Given the description of an element on the screen output the (x, y) to click on. 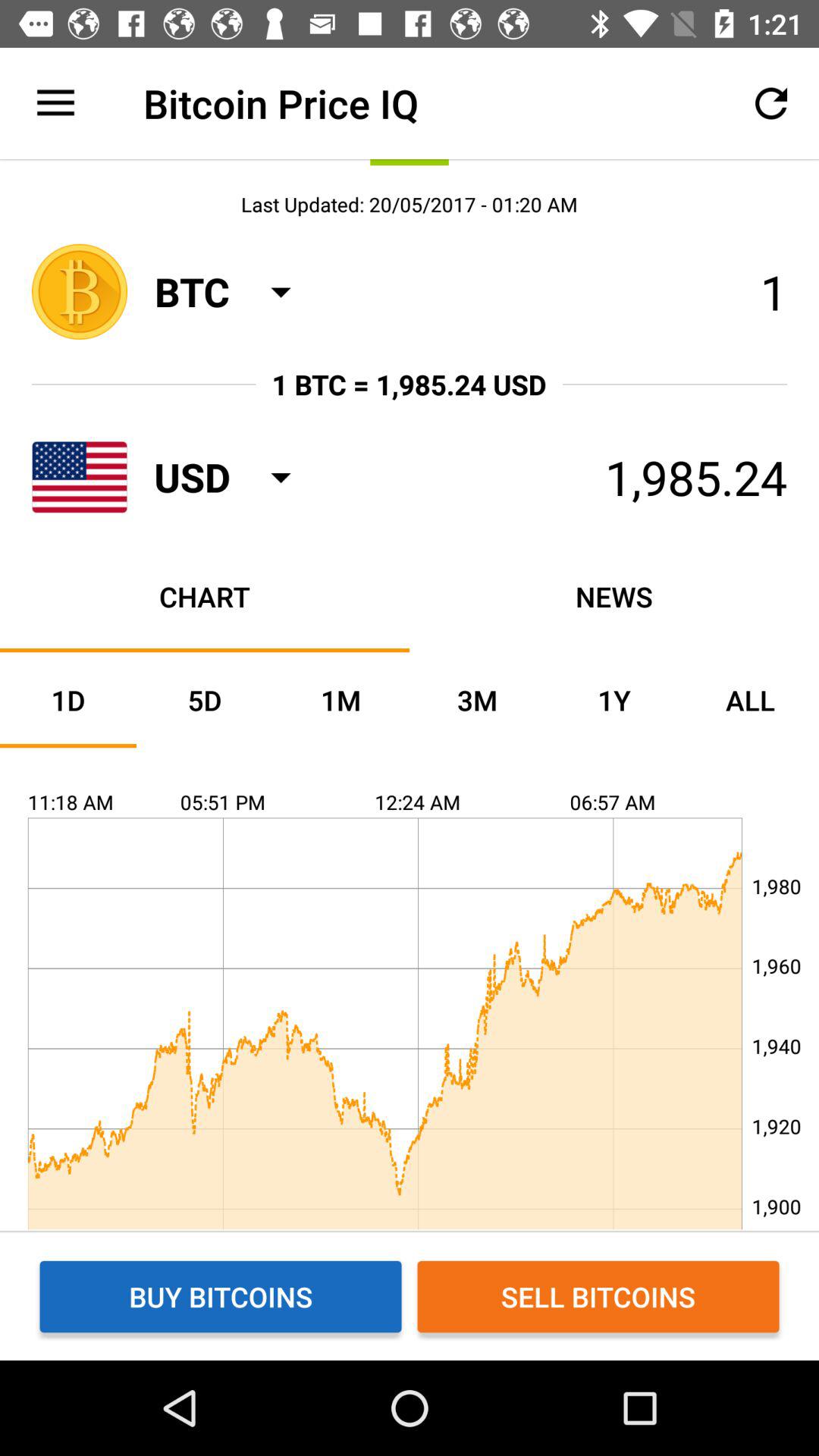
turn off item above the last updated 20 icon (55, 103)
